Given the description of an element on the screen output the (x, y) to click on. 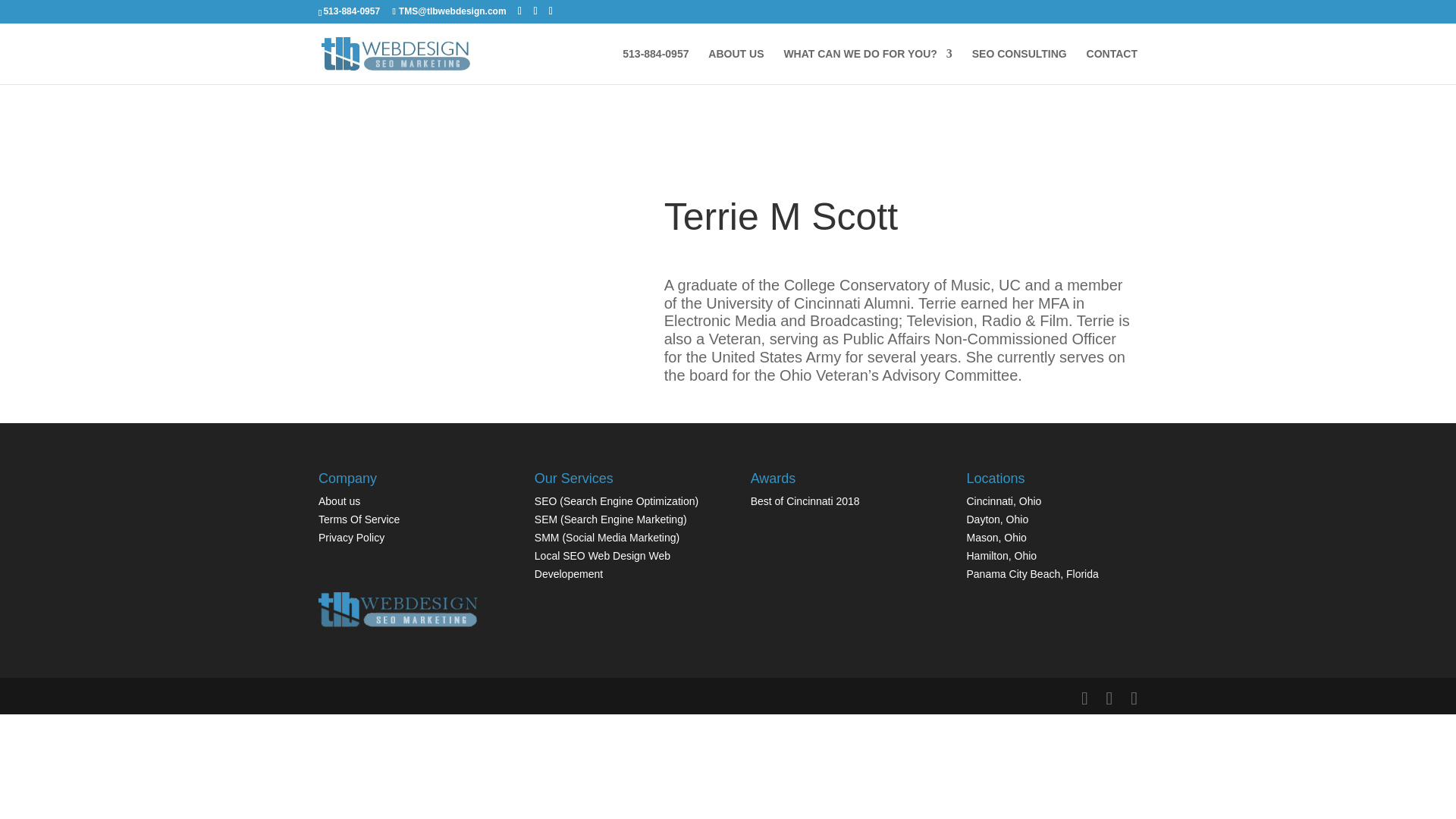
CONTACT (1111, 66)
SEO CONSULTING (1019, 66)
WHAT CAN WE DO FOR YOU? (867, 66)
ABOUT US (734, 66)
Hamilton OH SEO (1001, 555)
Dayton OH SEO (996, 519)
Terms Of Service (358, 519)
Mason OH SEO (996, 537)
About us (338, 500)
Cincinnati OH SEO (1003, 500)
513-884-0957 (655, 66)
